Given the description of an element on the screen output the (x, y) to click on. 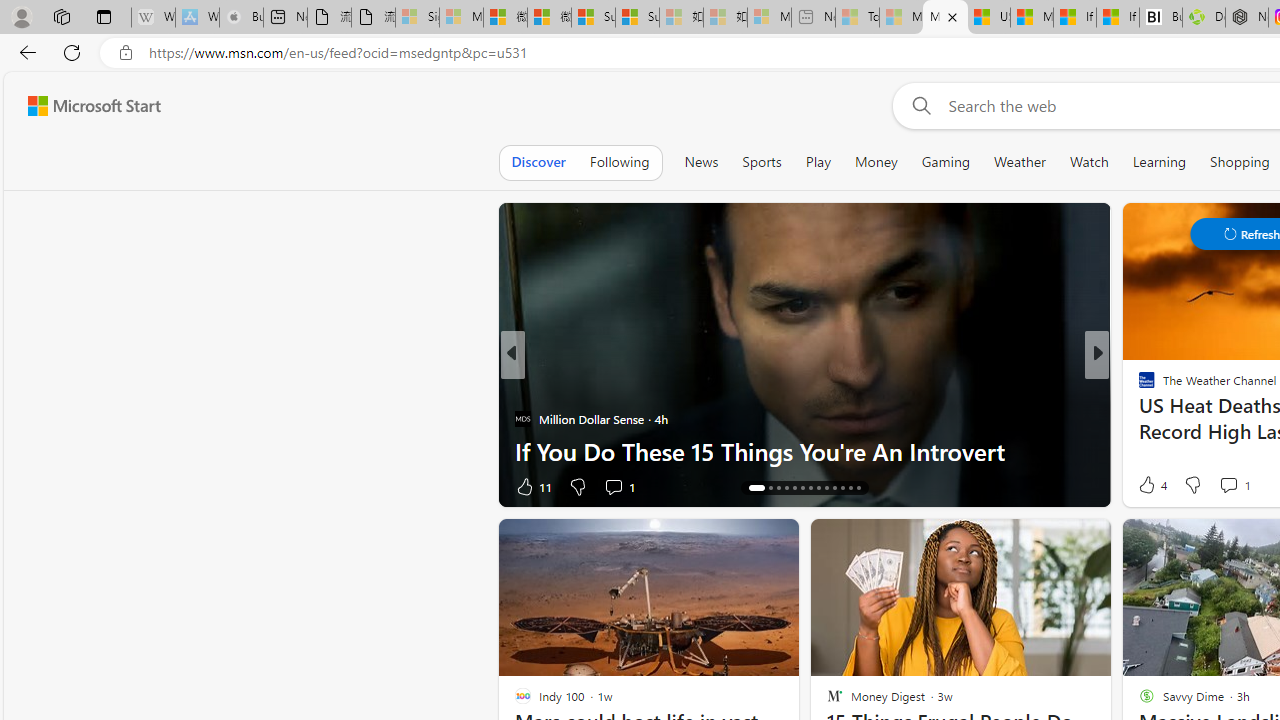
View comments 3 Comment (1241, 486)
13 Like (1149, 486)
Microsoft Services Agreement - Sleeping (461, 17)
11 Like (532, 486)
View comments 11 Comment (1234, 485)
PC World (1138, 386)
3 Like (1145, 486)
View comments 13 Comment (1244, 486)
